Given the description of an element on the screen output the (x, y) to click on. 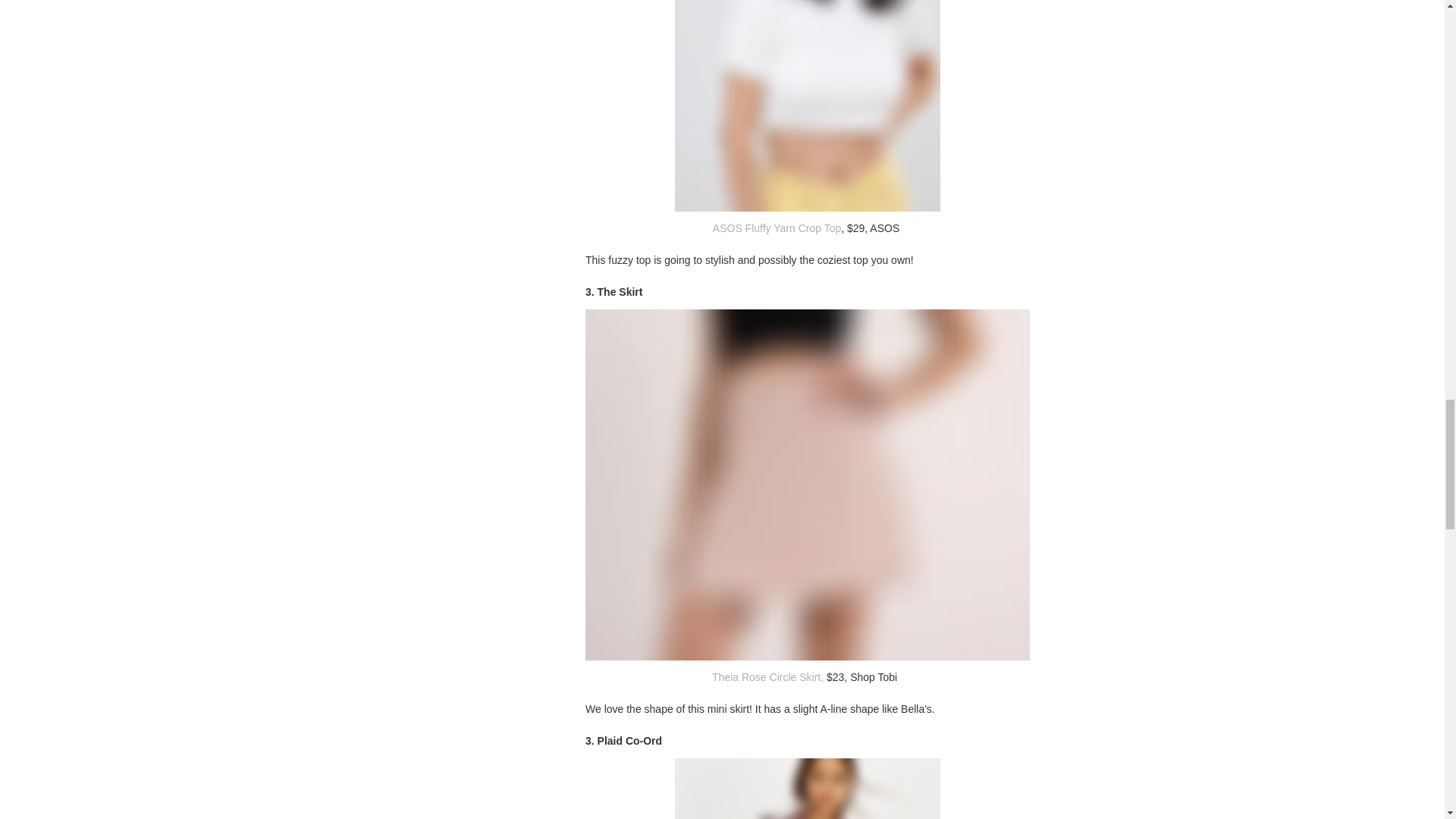
ASOS Fluffy Yarn Crop Top (775, 227)
Theia Rose Circle Skirt, (767, 676)
